Given the description of an element on the screen output the (x, y) to click on. 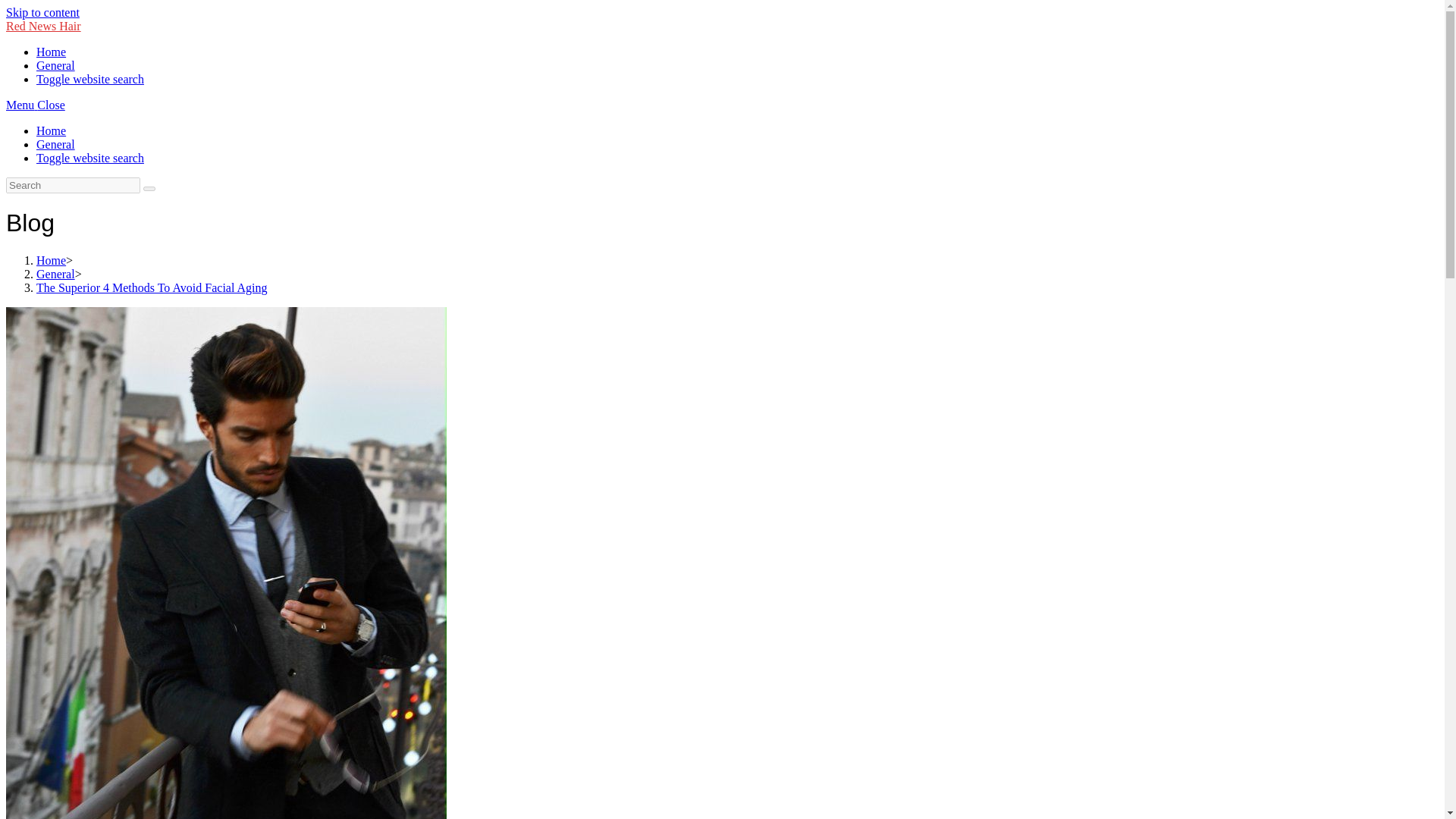
Toggle website search (90, 157)
General (55, 65)
Red News Hair (43, 25)
Home (50, 51)
The Superior 4 Methods To Avoid Facial Aging (151, 287)
Menu Close (35, 104)
Skip to content (42, 11)
General (55, 144)
General (55, 273)
Home (50, 259)
